Given the description of an element on the screen output the (x, y) to click on. 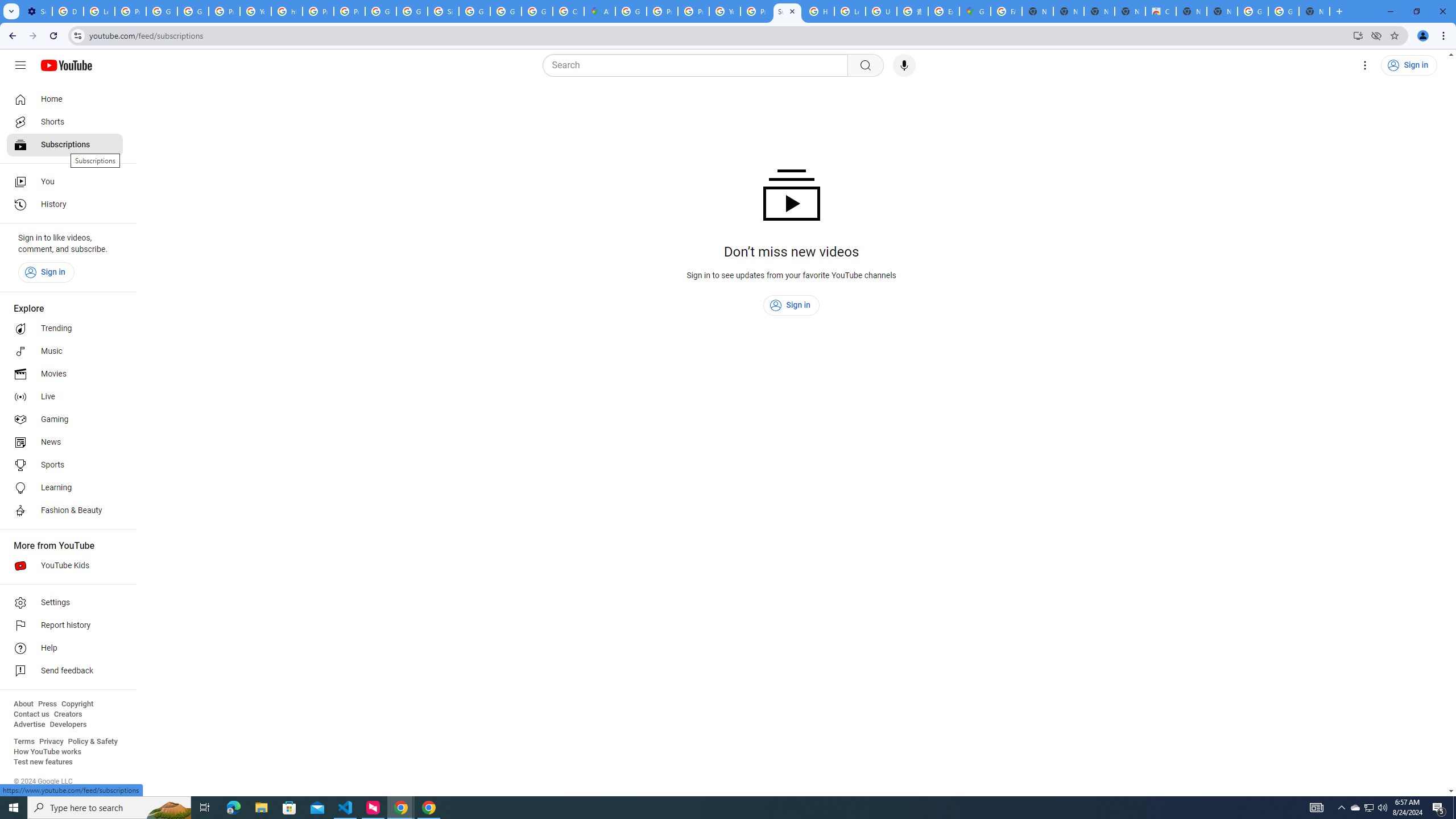
YouTube Kids (64, 565)
Sports (64, 464)
New Tab (1314, 11)
Contact us (31, 714)
YouTube (724, 11)
How Chrome protects your passwords - Google Chrome Help (818, 11)
https://scholar.google.com/ (286, 11)
Privacy Help Center - Policies Help (318, 11)
Google Images (1283, 11)
